Given the description of an element on the screen output the (x, y) to click on. 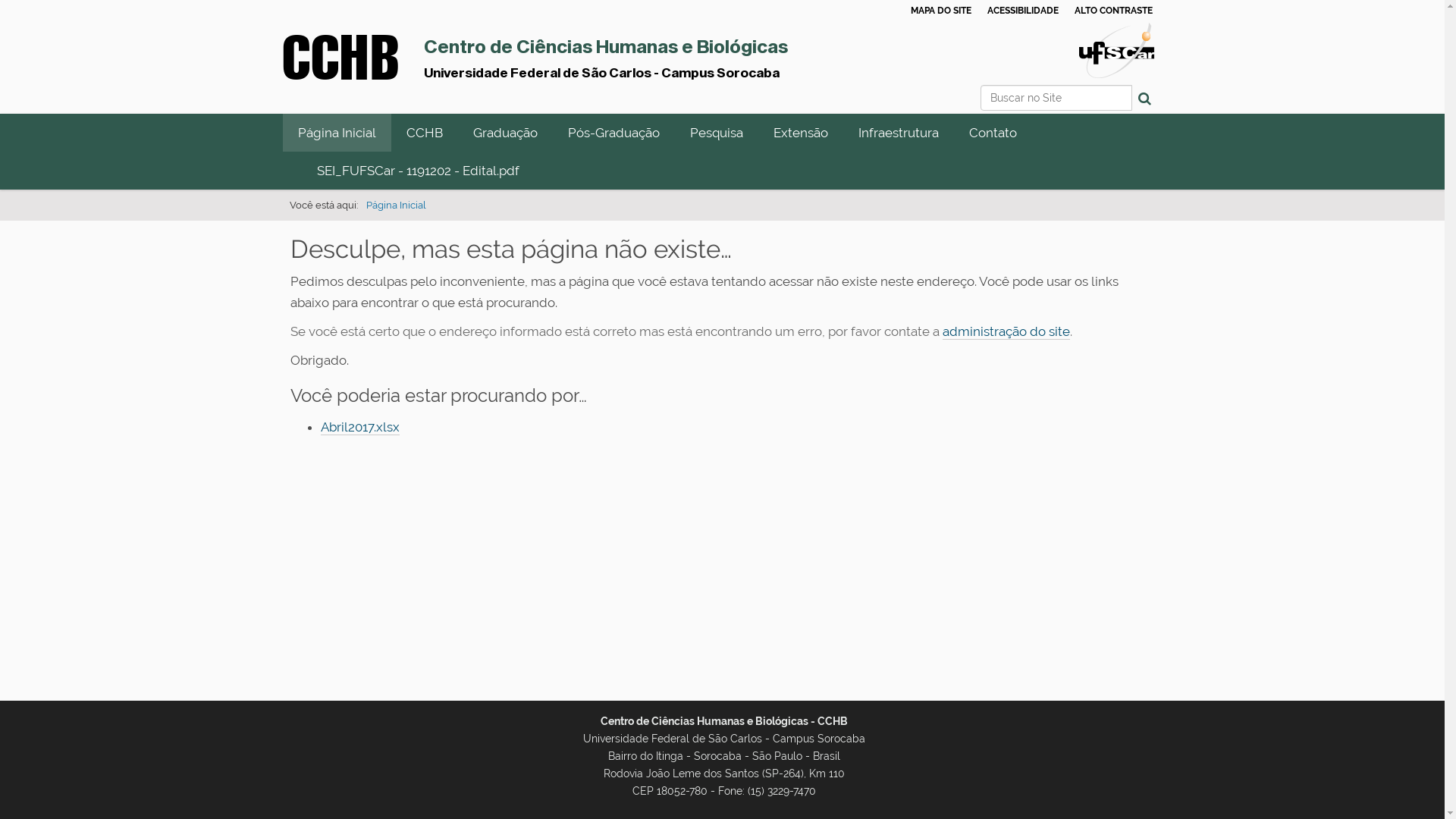
MAPA DO SITE Element type: text (940, 10)
ACESSIBILIDADE Element type: text (1022, 10)
SEI_FUFSCar - 1191202 - Edital.pdf Element type: text (417, 170)
Abril2017.xlsx Element type: text (359, 427)
Infraestrutura Element type: text (898, 132)
Contato Element type: text (992, 132)
Pesquisa Element type: text (716, 132)
Buscar no Site Element type: hover (1055, 97)
Portal UFSCar Element type: hover (1116, 48)
ALTO CONTRASTE Element type: text (1112, 10)
CCHB Element type: text (424, 132)
